Given the description of an element on the screen output the (x, y) to click on. 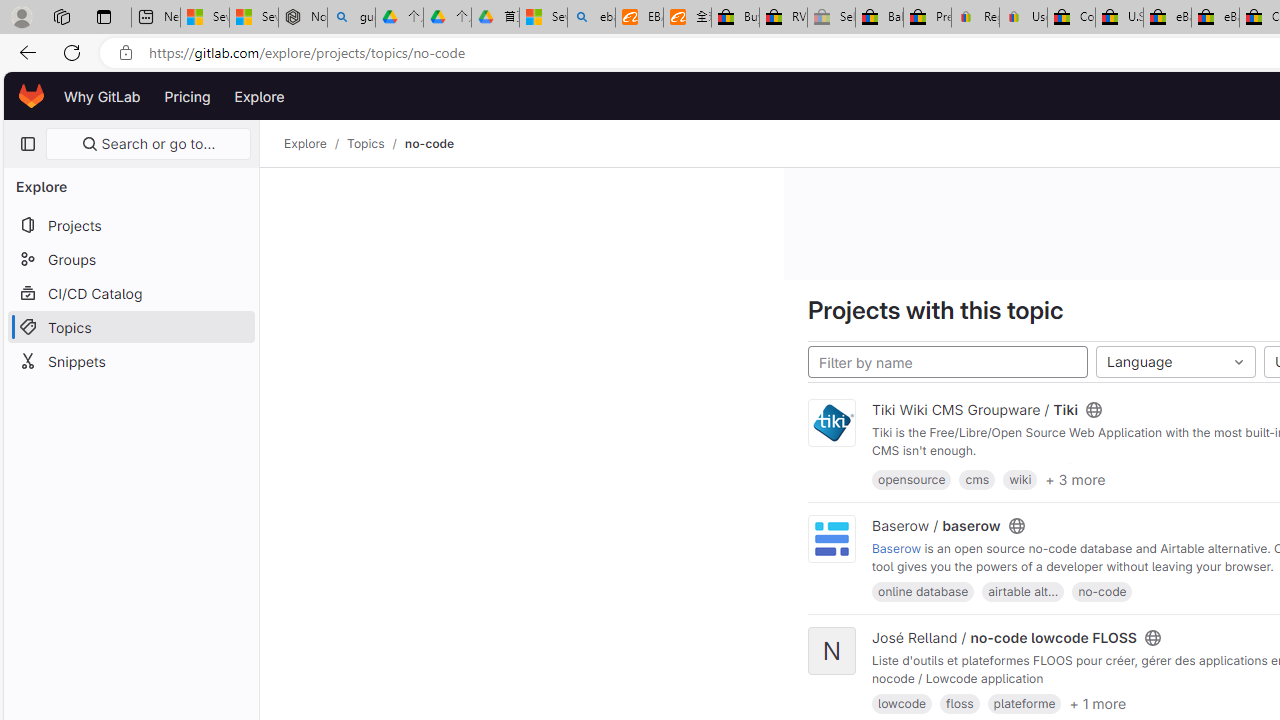
cms (976, 479)
Snippets (130, 360)
wiki (1019, 479)
Topics/ (375, 143)
Explore (259, 95)
Explore/ (316, 143)
Pricing (187, 95)
Groups (130, 259)
Baserow / baserow (935, 525)
Register: Create a personal eBay account (975, 17)
Why GitLab (102, 95)
